Given the description of an element on the screen output the (x, y) to click on. 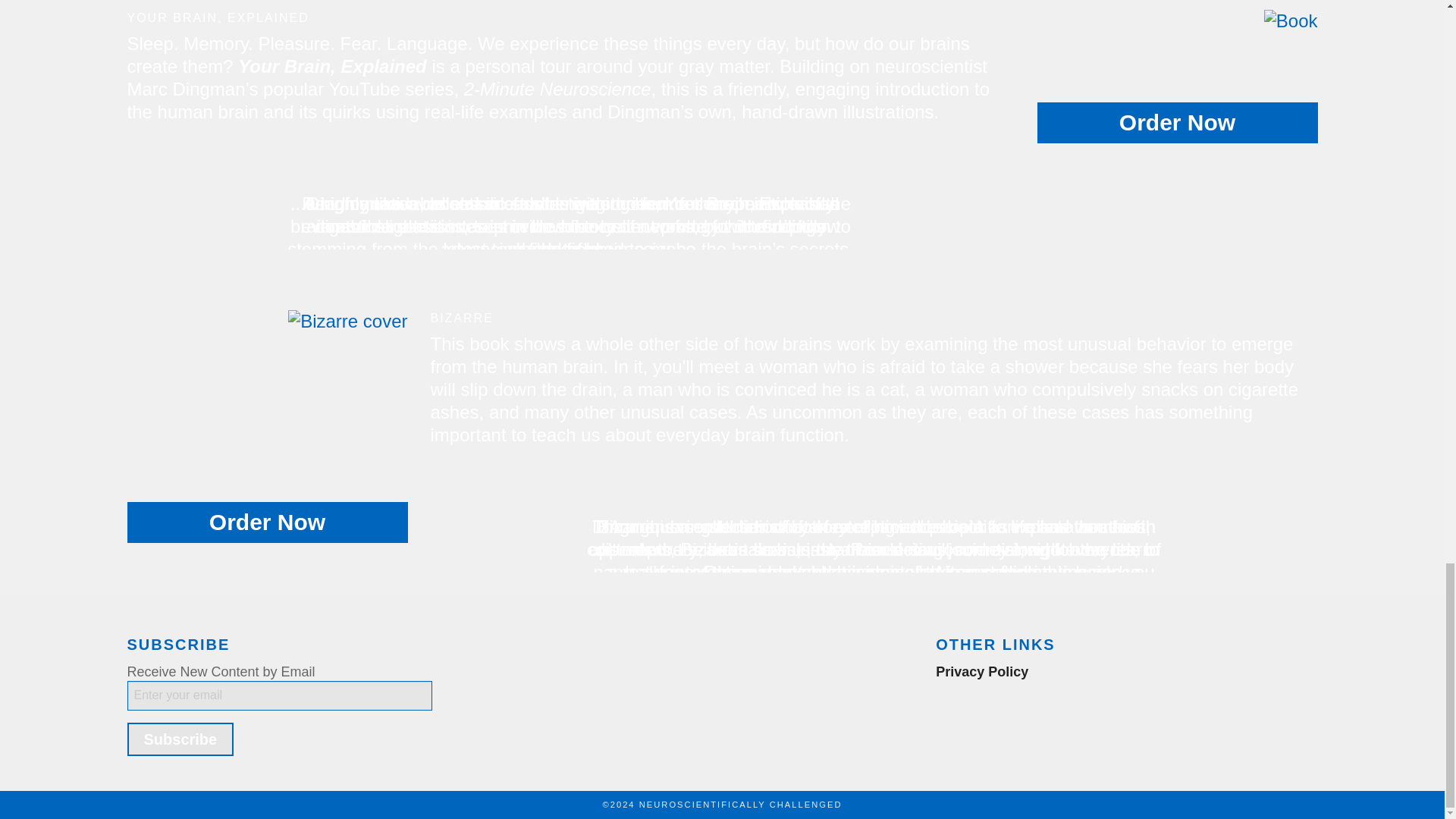
Order Now (1176, 122)
Subscribe (181, 738)
Order Now (267, 522)
Next Slide (1002, 192)
Previous Slide (139, 192)
Previous Slide (442, 515)
Next Slide (1305, 515)
